Given the description of an element on the screen output the (x, y) to click on. 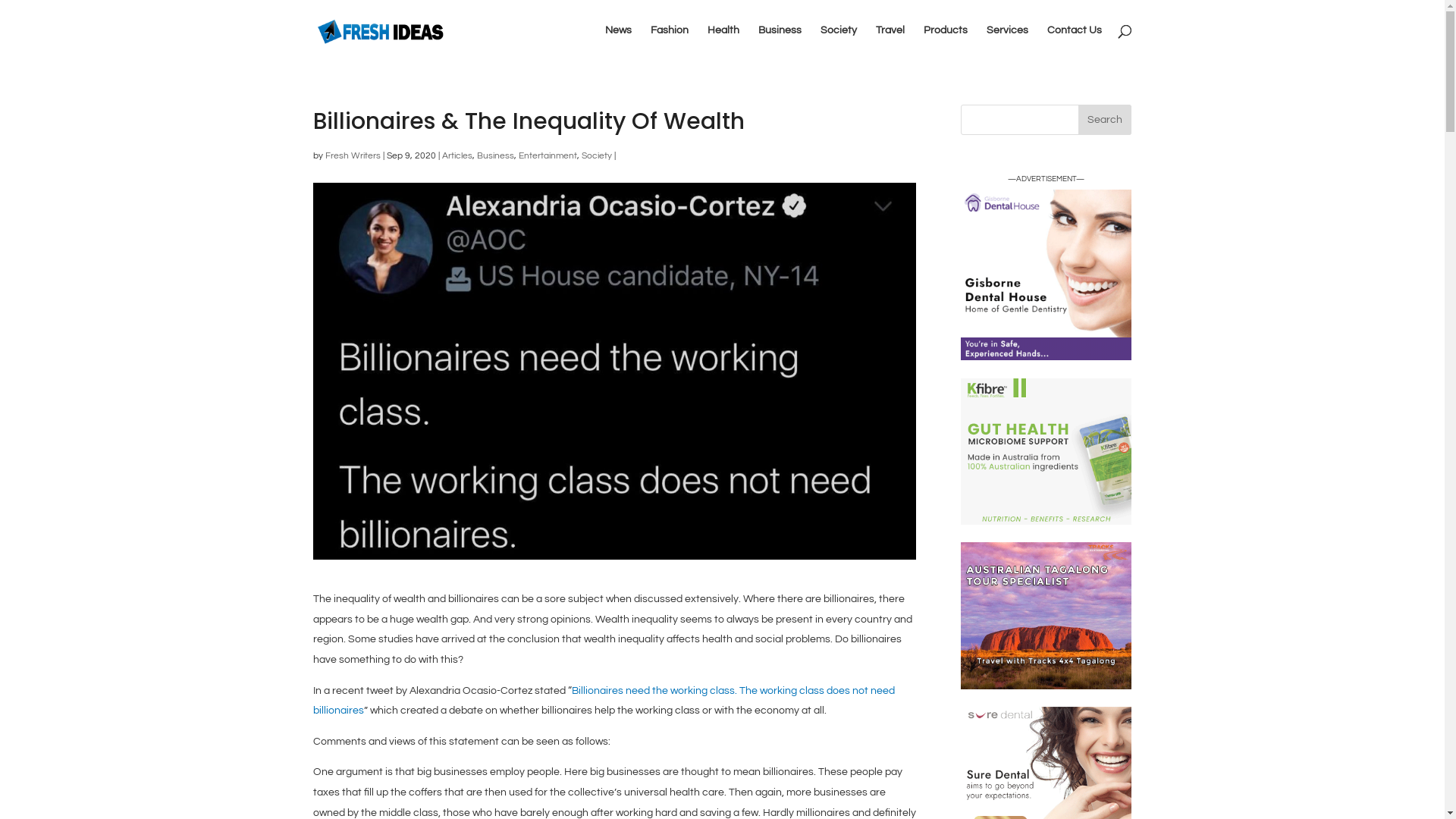
Travel Element type: text (889, 42)
Articles Element type: text (456, 155)
Fashion Element type: text (669, 42)
Search Element type: text (1104, 119)
Business Element type: text (779, 42)
News Element type: text (618, 42)
Products Element type: text (945, 42)
Health Element type: text (722, 42)
Entertainment Element type: text (547, 155)
Business Element type: text (494, 155)
Society Element type: text (838, 42)
Services Element type: text (1006, 42)
Fresh Writers Element type: text (351, 155)
Society Element type: text (595, 155)
Contact Us Element type: text (1073, 42)
